Given the description of an element on the screen output the (x, y) to click on. 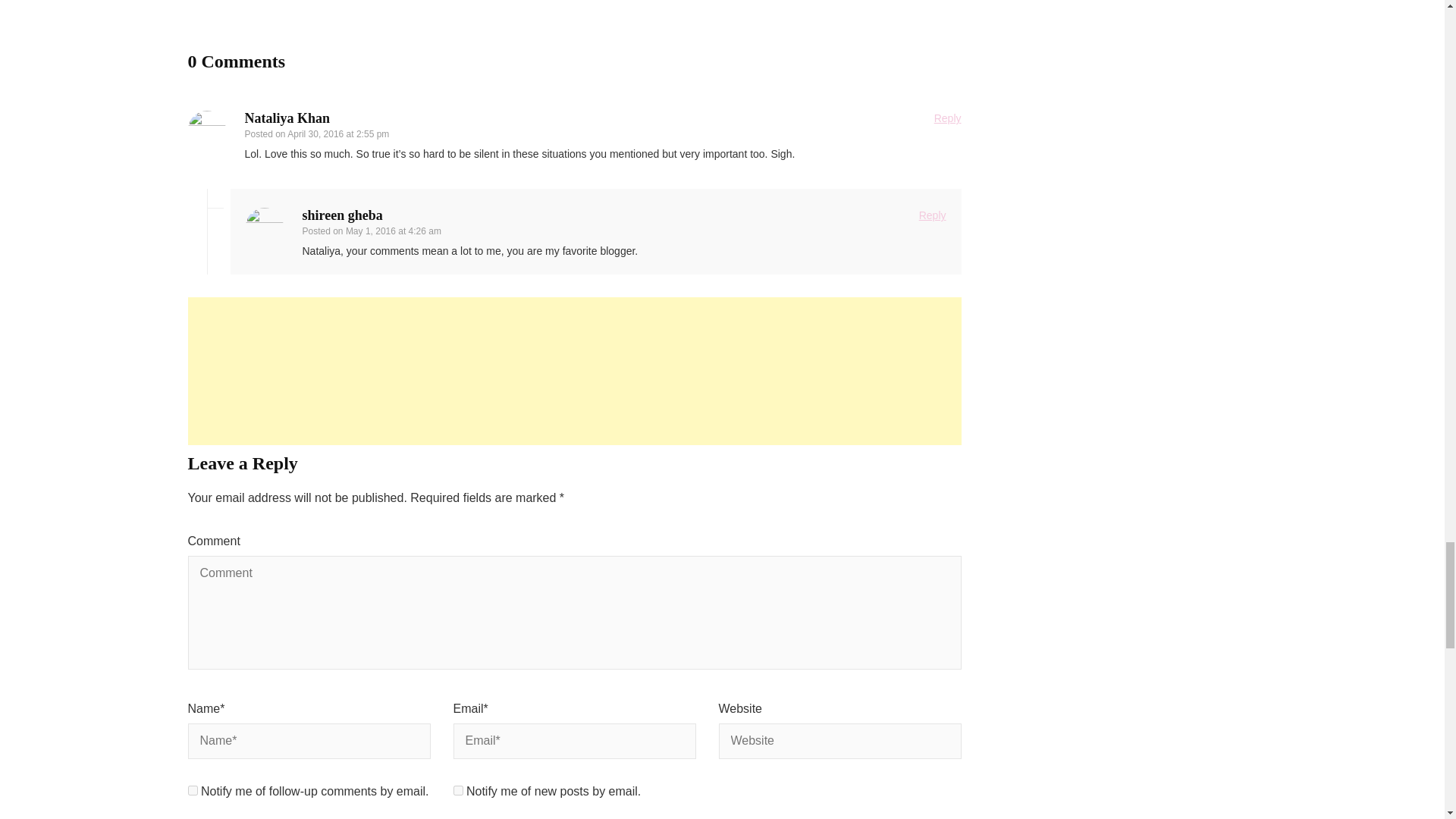
subscribe (457, 790)
subscribe (192, 790)
